Given the description of an element on the screen output the (x, y) to click on. 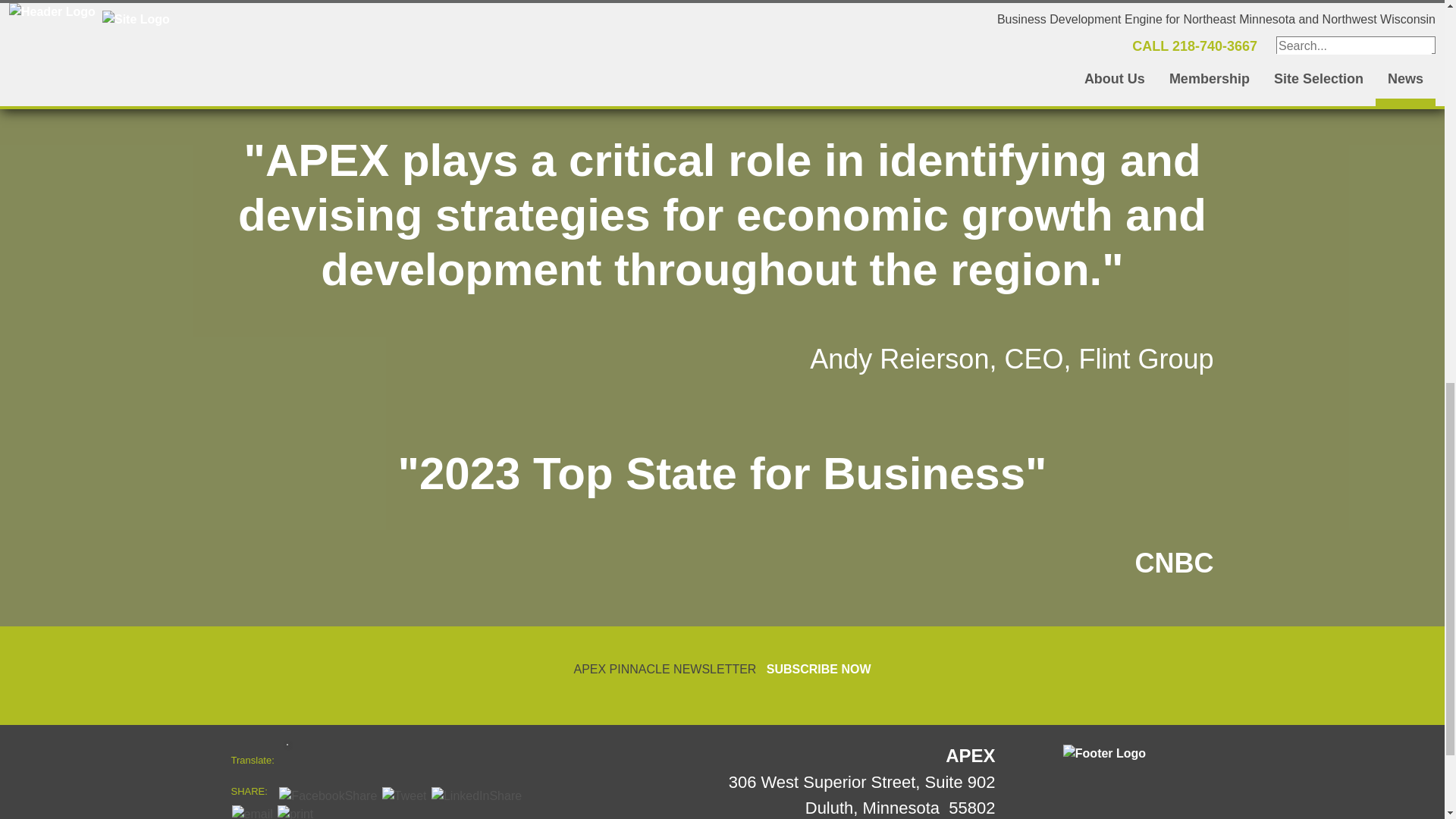
email (252, 812)
Tweet (403, 796)
SUBSCRIBE NOW (818, 668)
LinkedInShare (475, 796)
print (295, 812)
FacebookShare (328, 796)
